Given the description of an element on the screen output the (x, y) to click on. 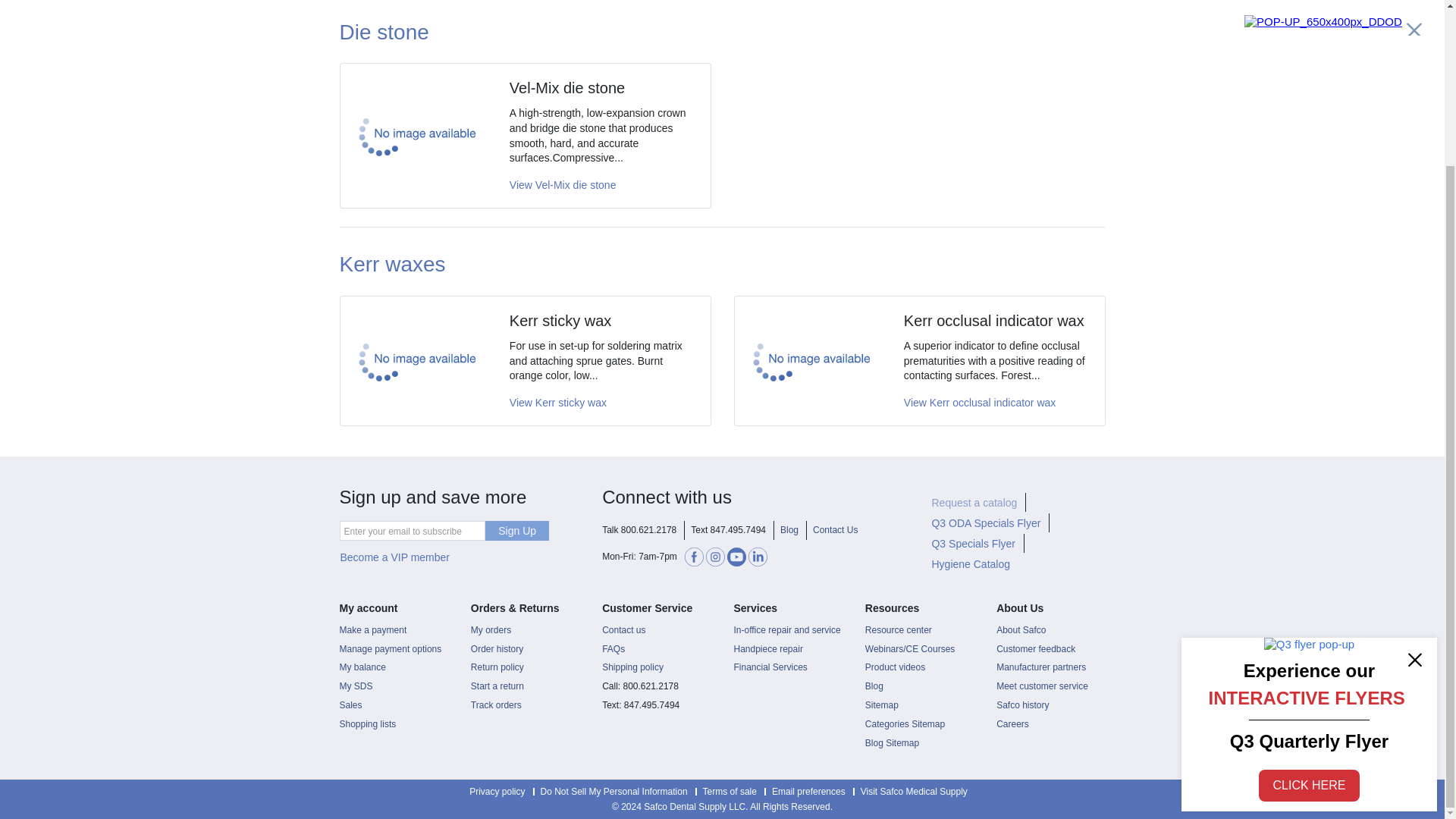
Popup CTA (1308, 526)
